Given the description of an element on the screen output the (x, y) to click on. 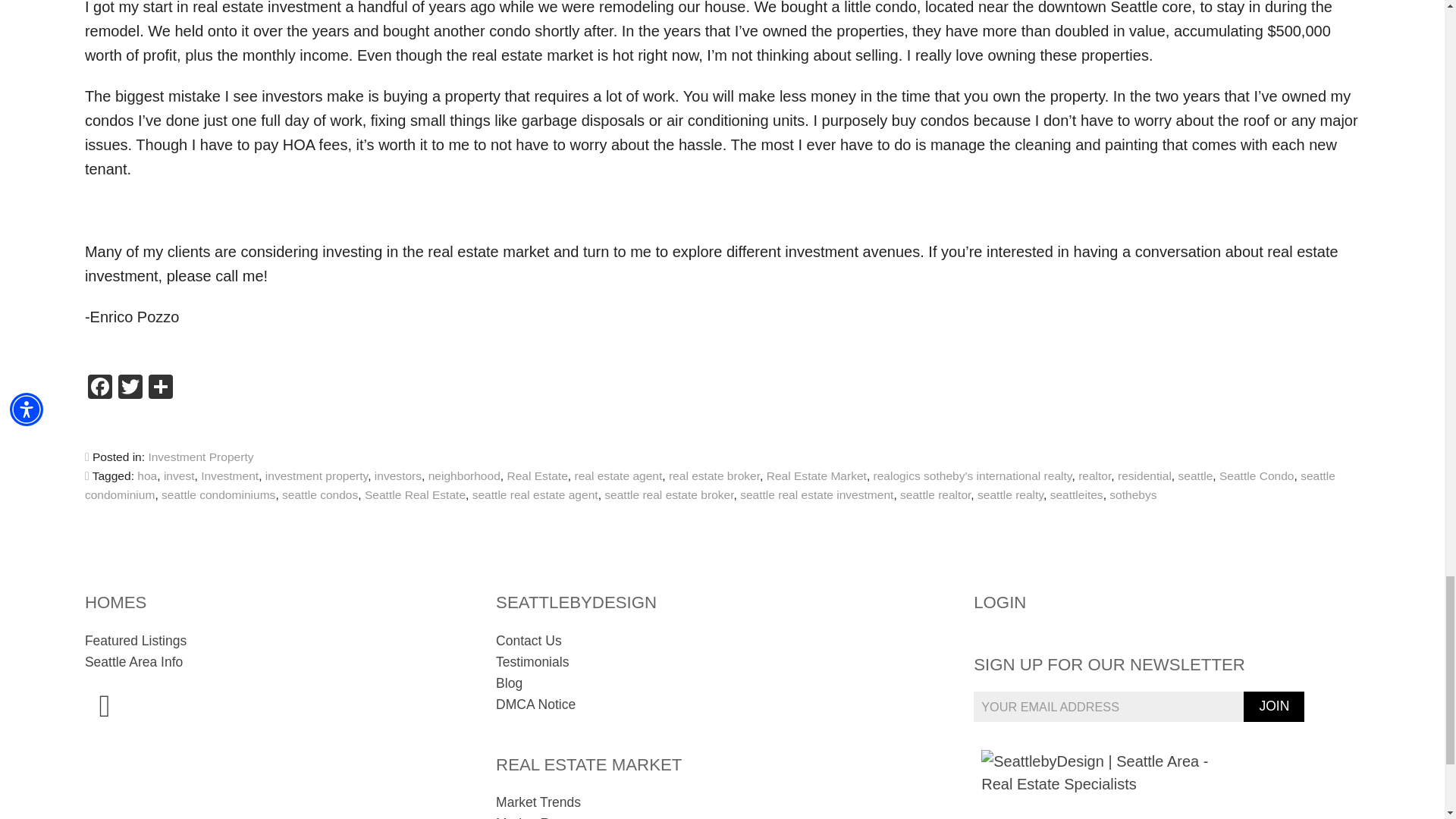
JOIN (1273, 706)
